Given the description of an element on the screen output the (x, y) to click on. 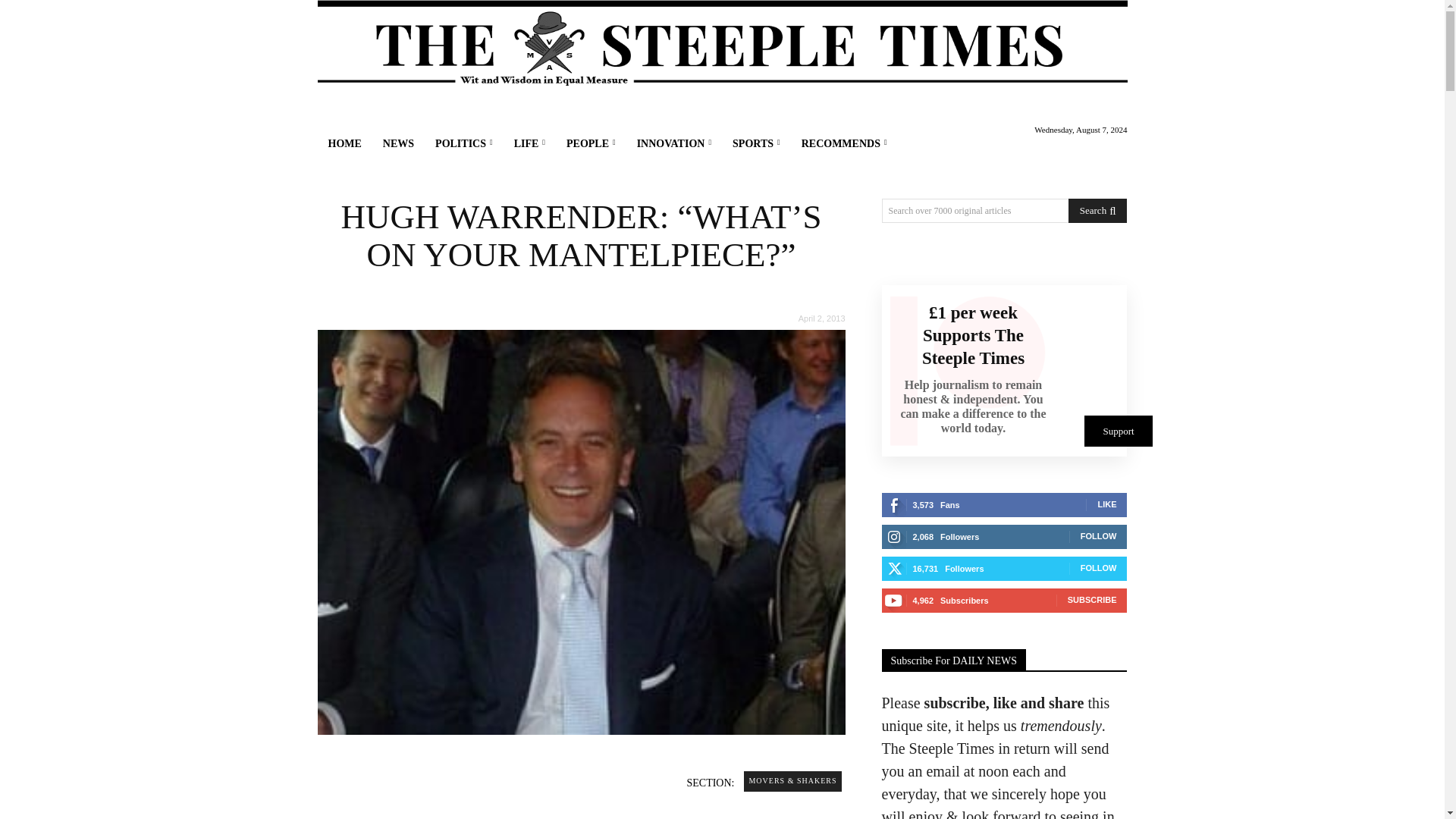
POLITICS (464, 144)
HOME (344, 144)
NEWS (398, 144)
PEOPLE (591, 144)
The Latest News, Wit and Review (721, 44)
LIFE (529, 144)
INNOVATION (674, 144)
